Given the description of an element on the screen output the (x, y) to click on. 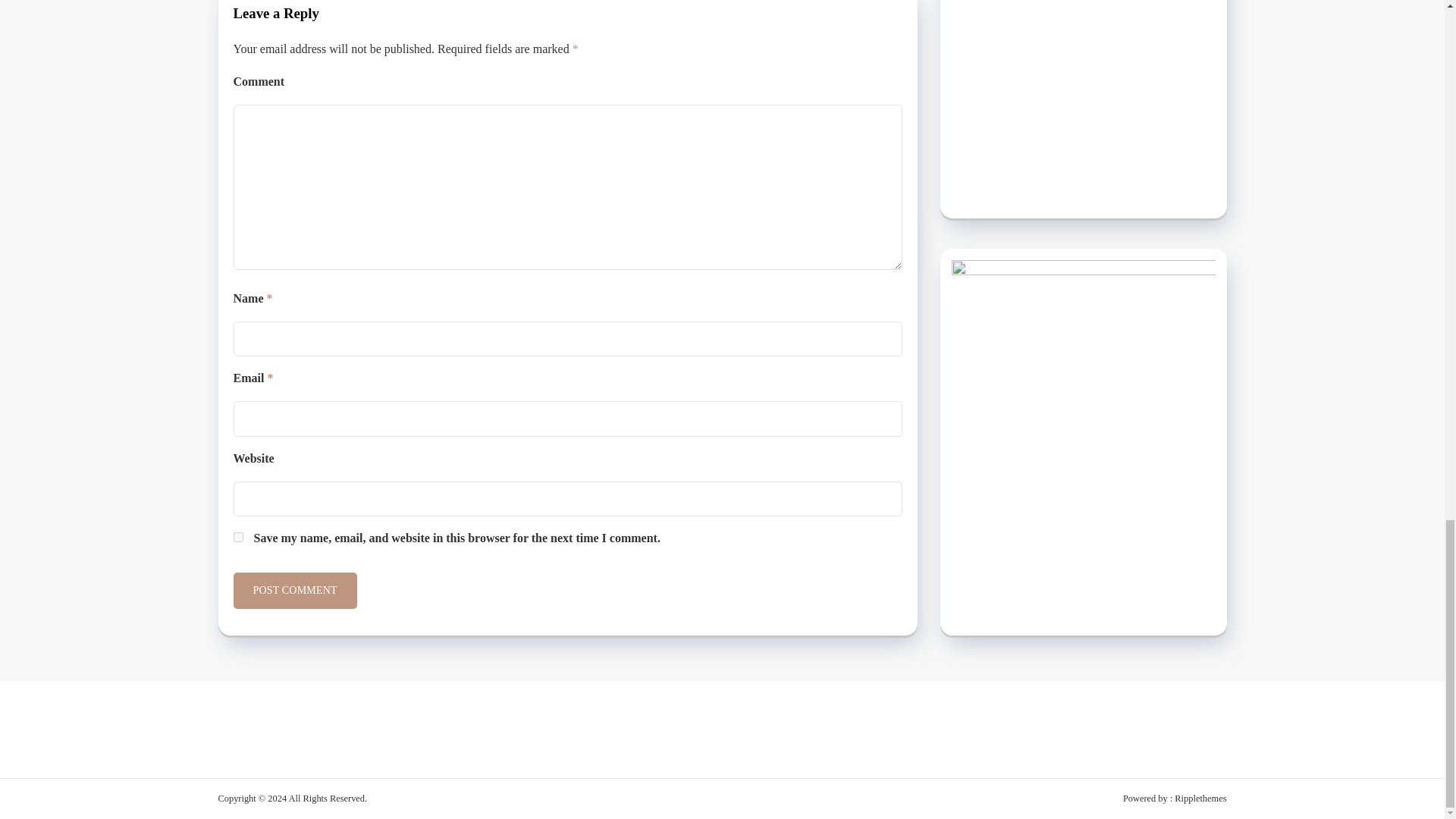
Post Comment (294, 590)
Post Comment (294, 590)
yes (237, 537)
BEST WAIST TRAINER BY SHAPELLX (1082, 86)
